Given the description of an element on the screen output the (x, y) to click on. 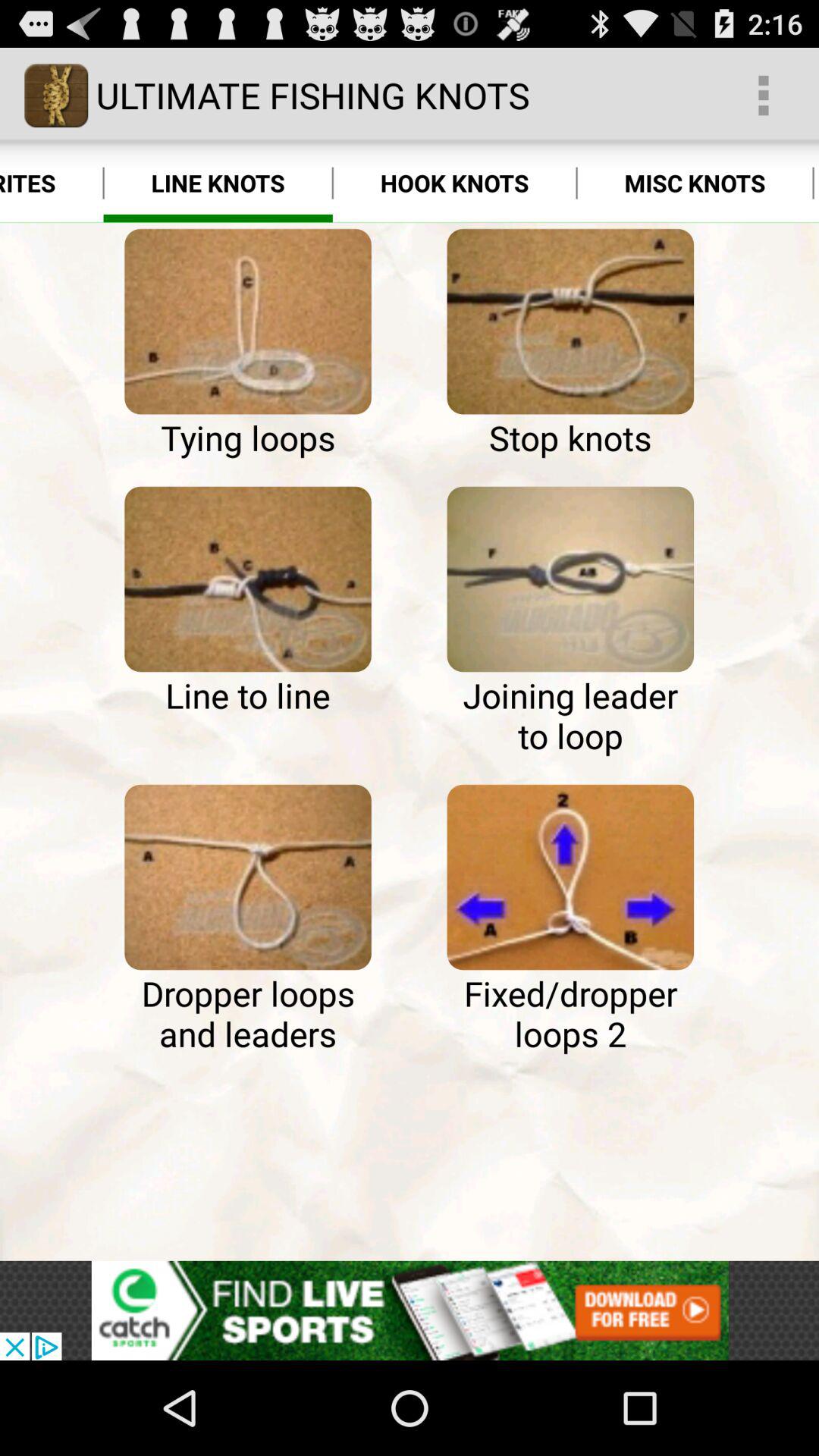
joining leader to loop (570, 578)
